Given the description of an element on the screen output the (x, y) to click on. 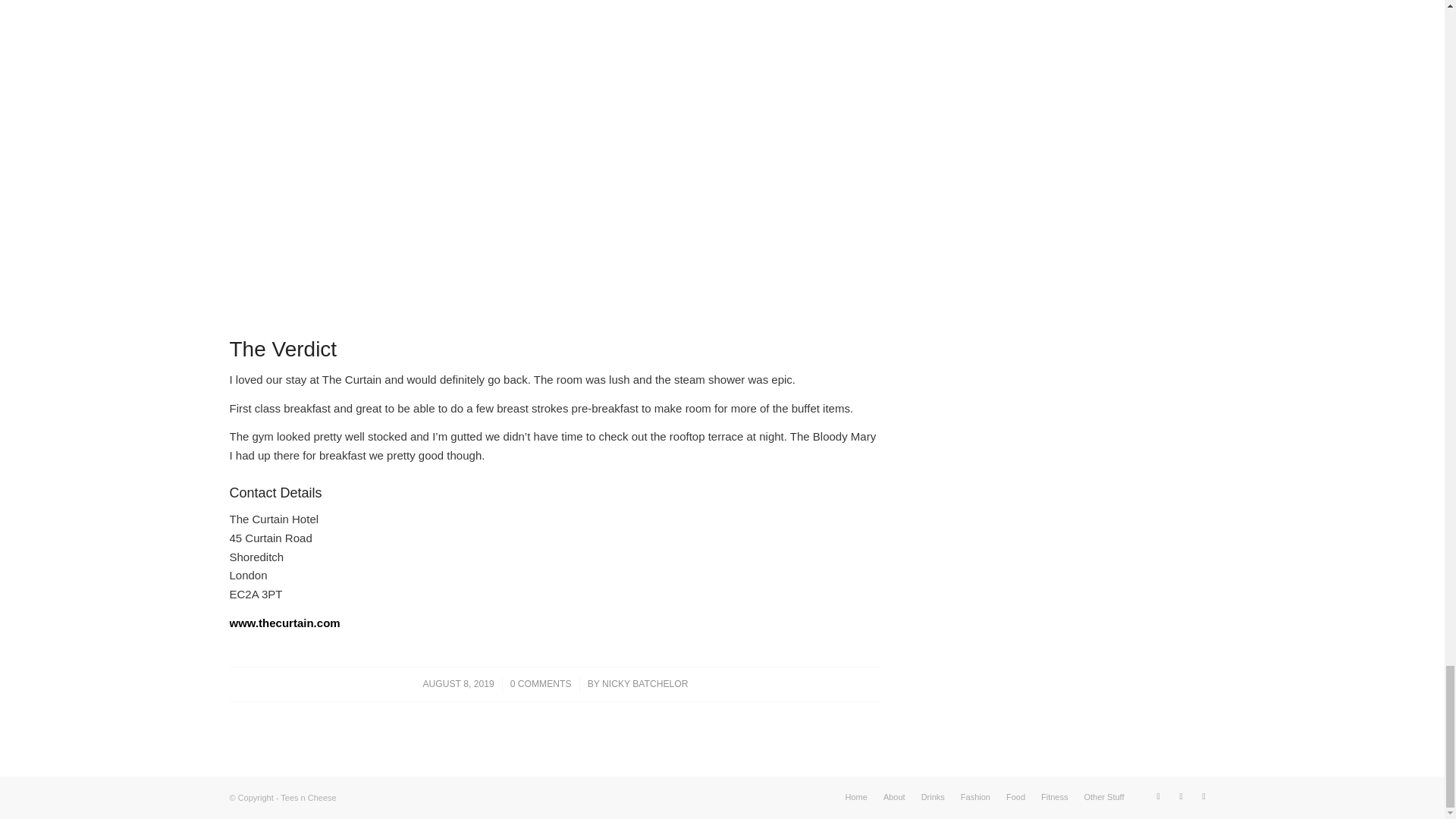
Home (856, 796)
Drinks (932, 796)
0 COMMENTS (541, 683)
NICKY BATCHELOR (645, 683)
www.thecurtain.com (283, 622)
About (894, 796)
